Given the description of an element on the screen output the (x, y) to click on. 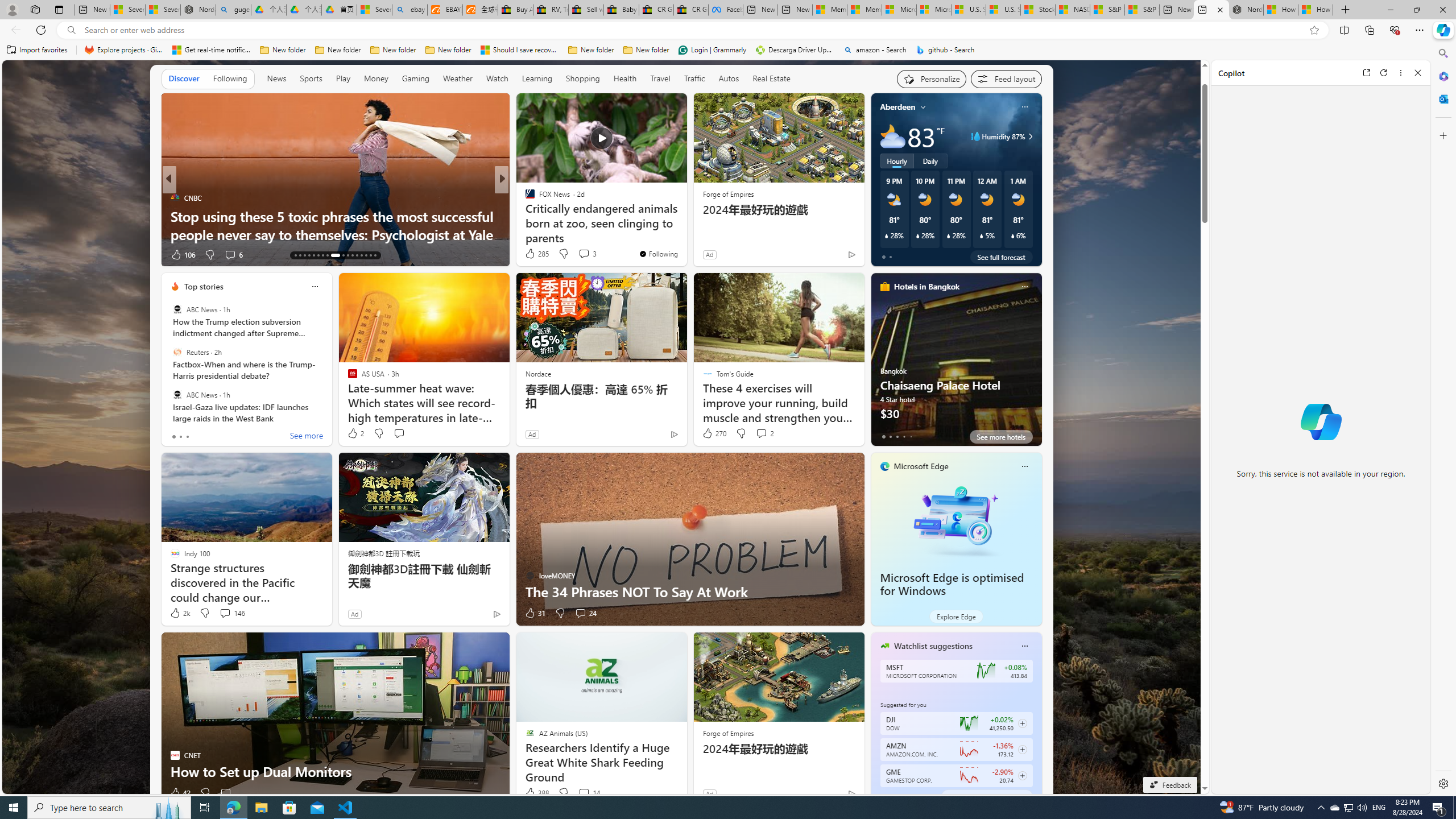
View comments 167 Comment (583, 254)
Gaming (415, 79)
Aberdeen (897, 106)
Class: weather-current-precipitation-glyph (1012, 235)
See watchlist suggestions (986, 796)
AutomationID: tab-40 (366, 255)
Komando (524, 215)
View comments 6 Comment (583, 254)
